Given the description of an element on the screen output the (x, y) to click on. 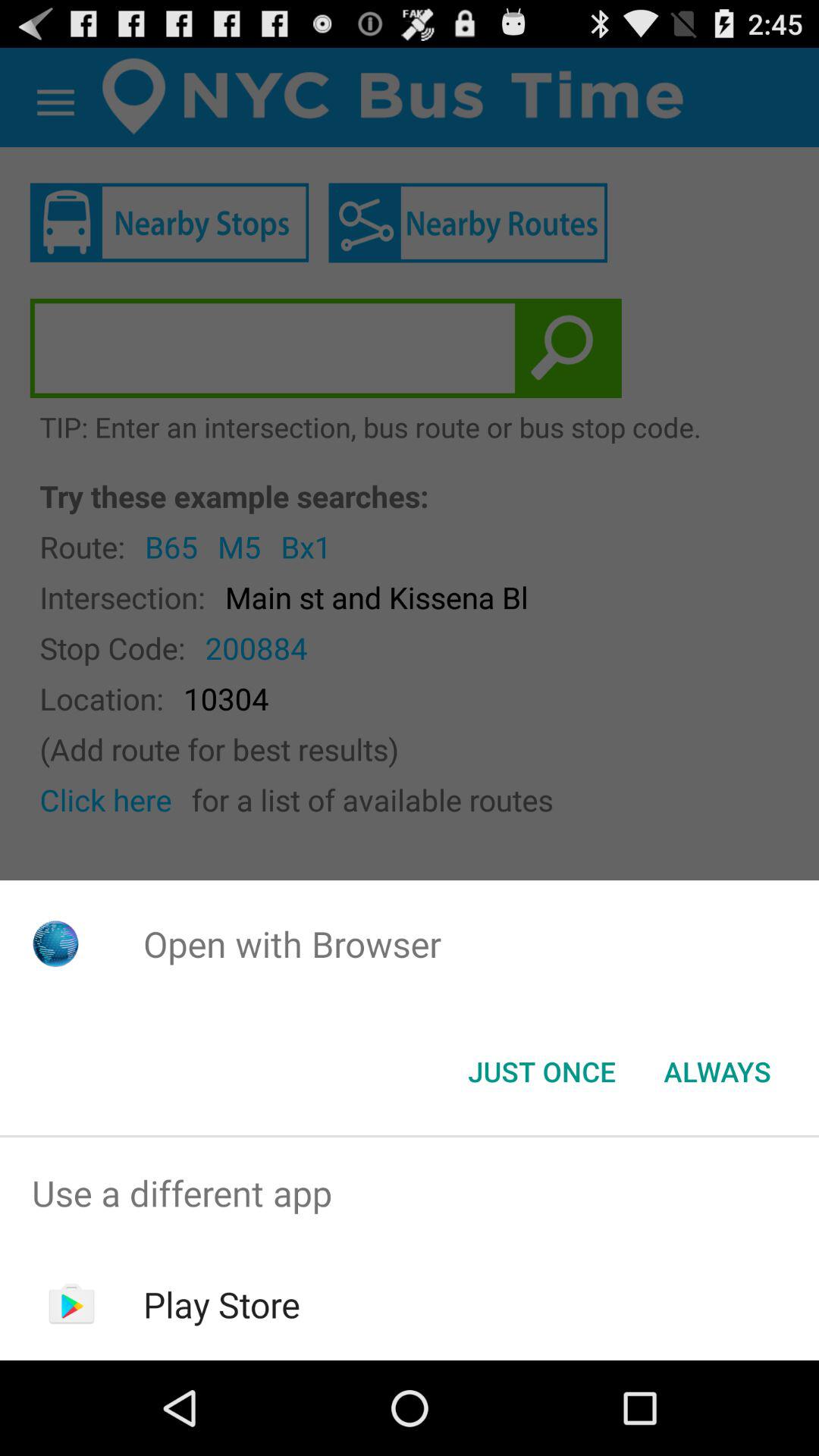
flip until play store (221, 1304)
